Given the description of an element on the screen output the (x, y) to click on. 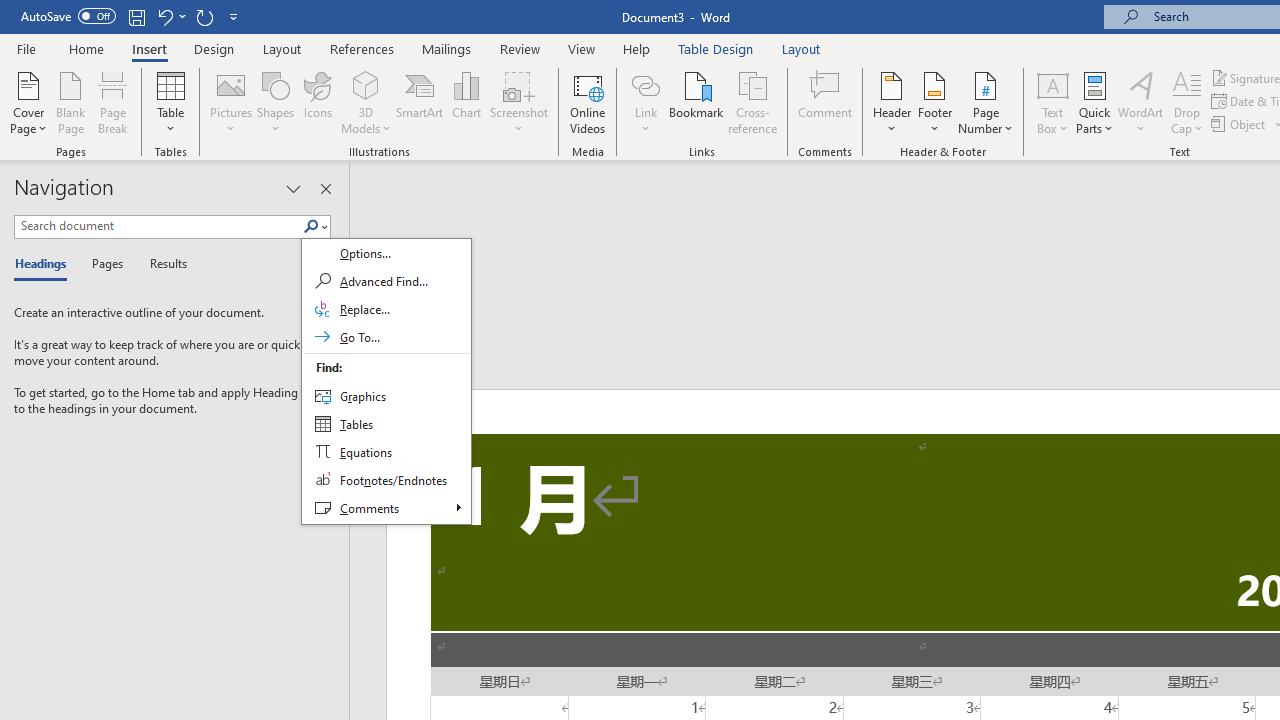
SmartArt... (419, 102)
Cross-reference... (752, 102)
Object... (1240, 124)
Table (170, 102)
Text Box (1052, 102)
Pictures (230, 102)
